Given the description of an element on the screen output the (x, y) to click on. 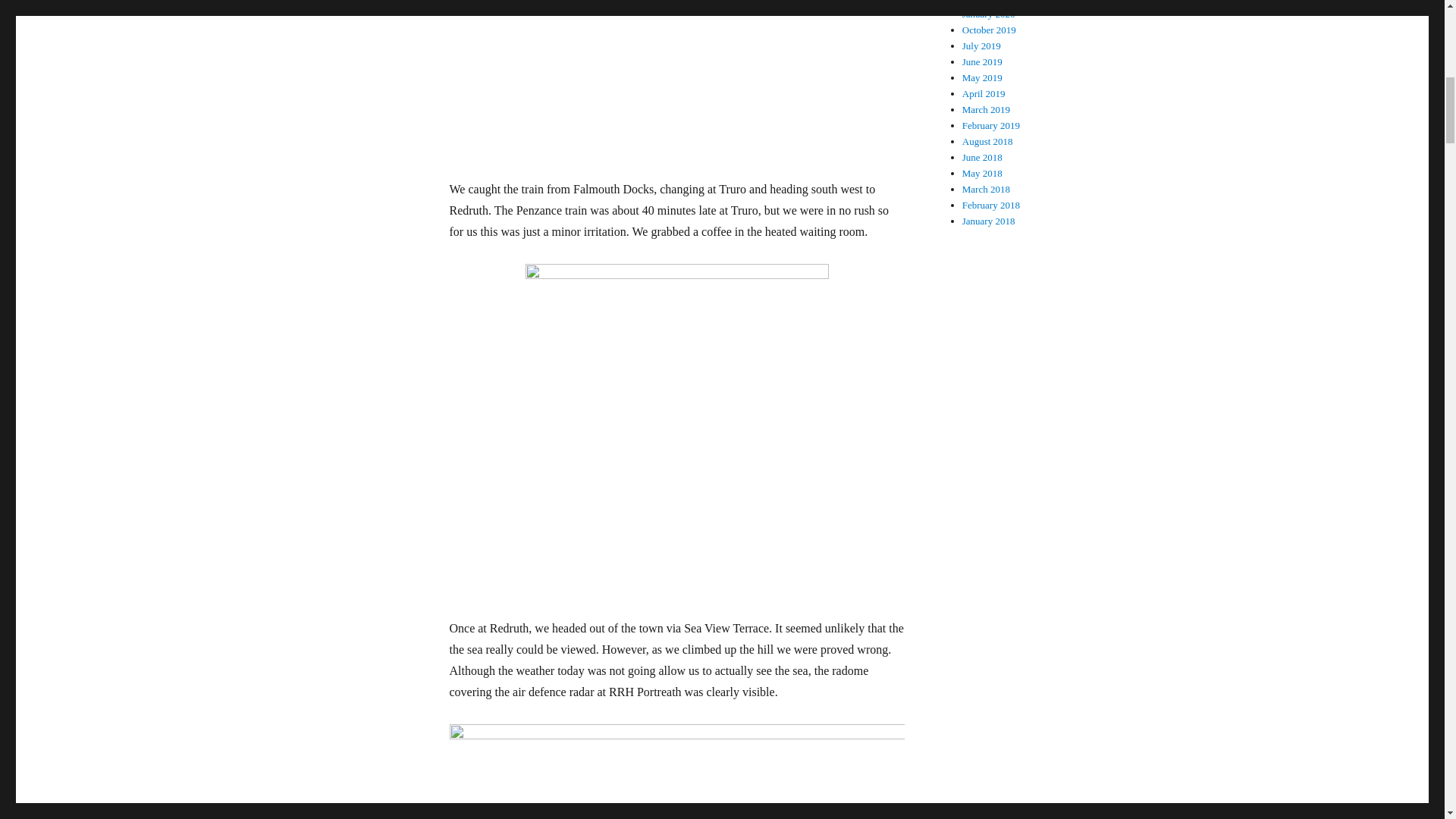
Gwennap Pit (676, 771)
